Given the description of an element on the screen output the (x, y) to click on. 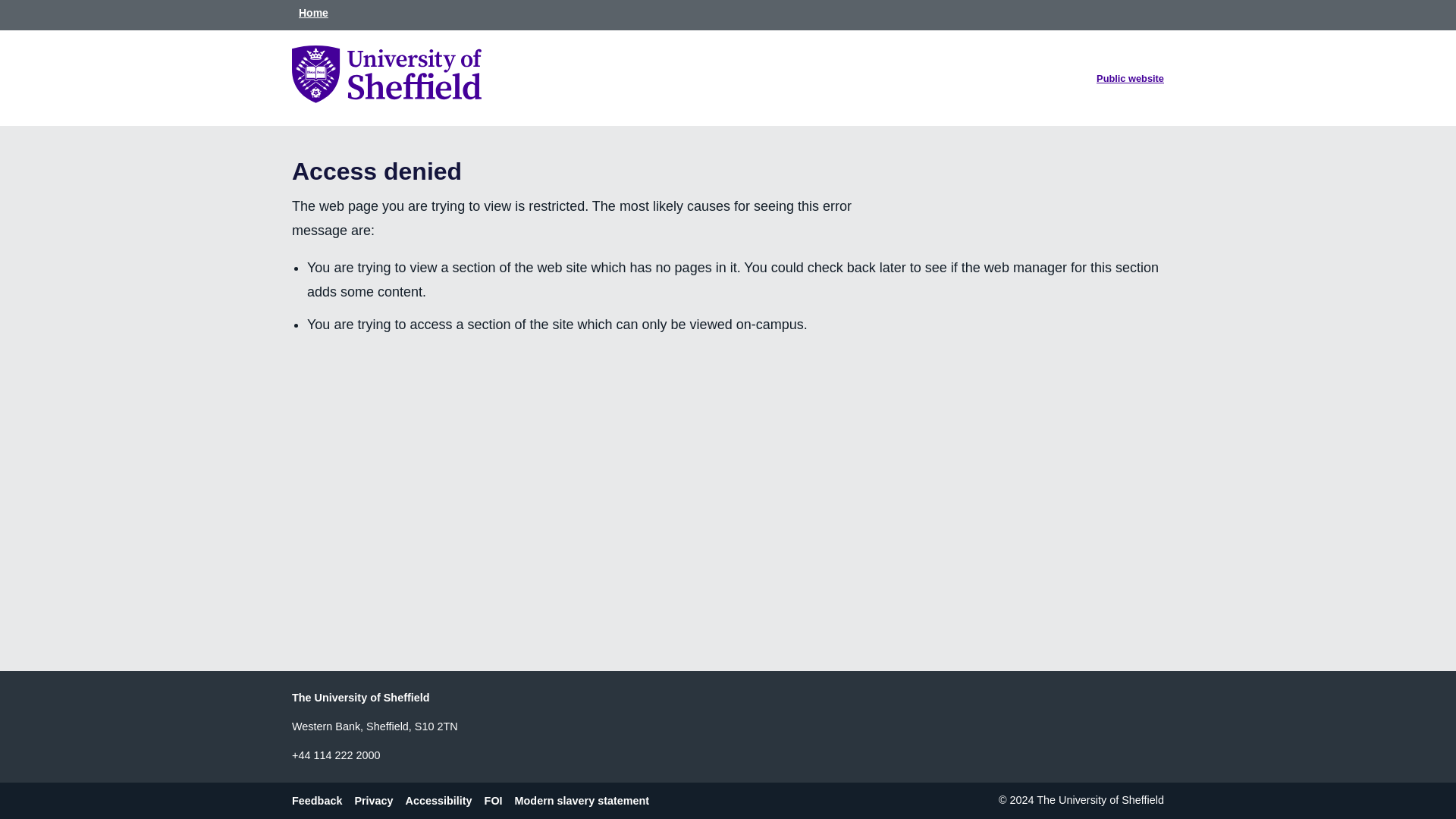
Privacy (378, 800)
Home (313, 14)
Modern slavery statement (588, 800)
Back to home (386, 98)
Public website (1129, 78)
Accessibility (445, 800)
Feedback (322, 800)
FOI (499, 800)
